Given the description of an element on the screen output the (x, y) to click on. 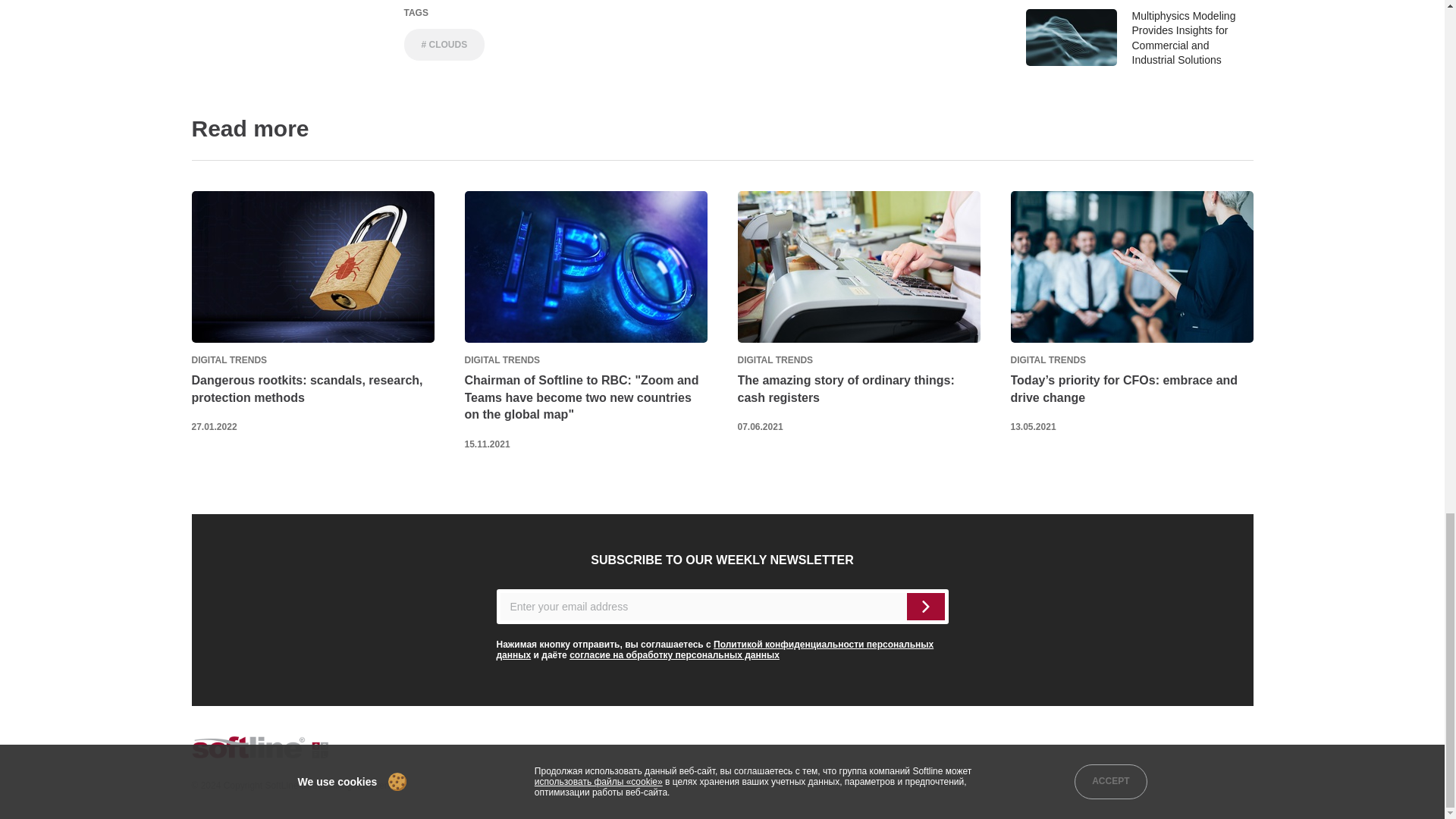
Send (925, 605)
CLOUDS (443, 44)
